Given the description of an element on the screen output the (x, y) to click on. 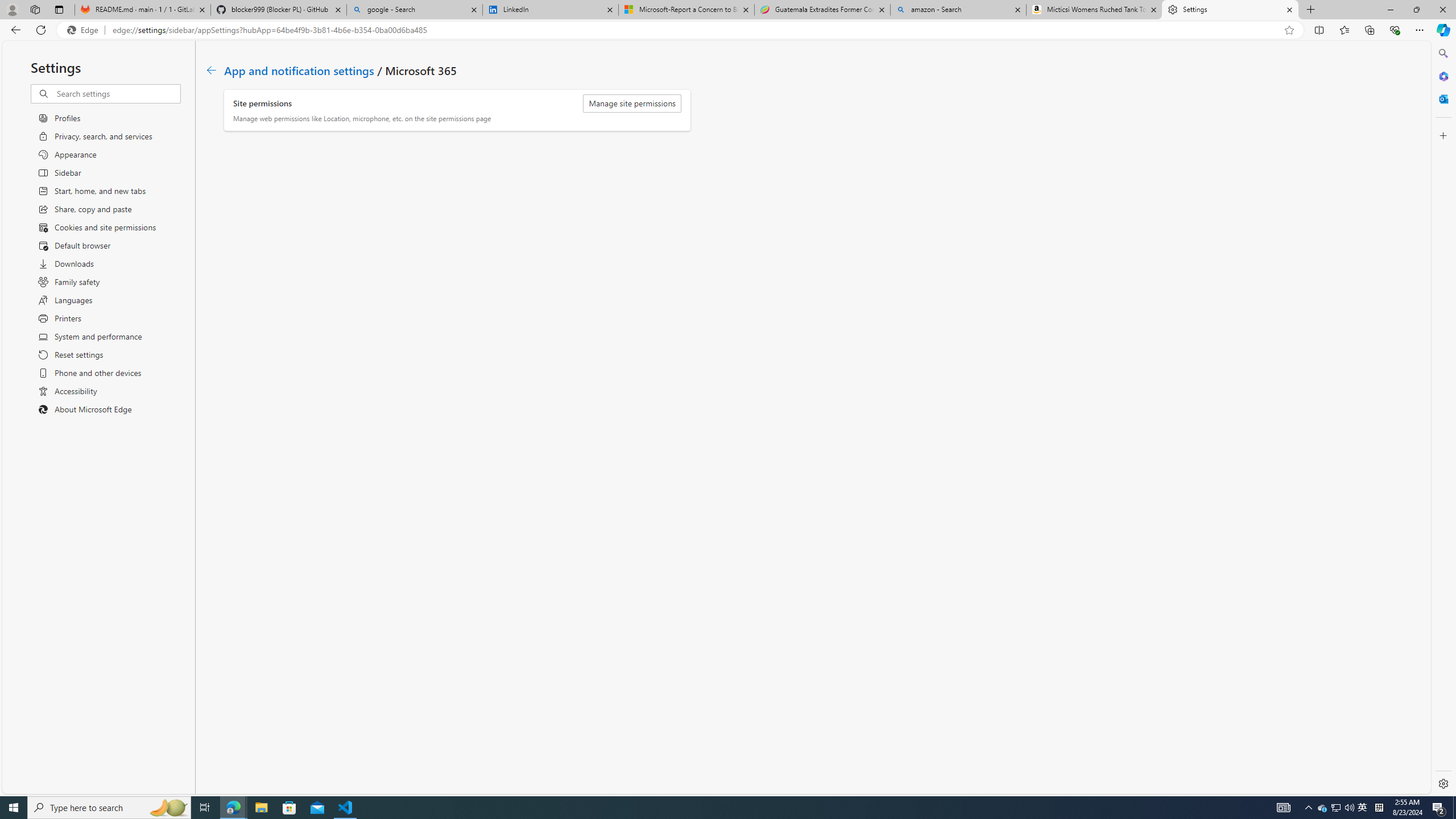
Side bar (1443, 418)
Go back to App and notification settings page. (210, 70)
LinkedIn (550, 9)
